Given the description of an element on the screen output the (x, y) to click on. 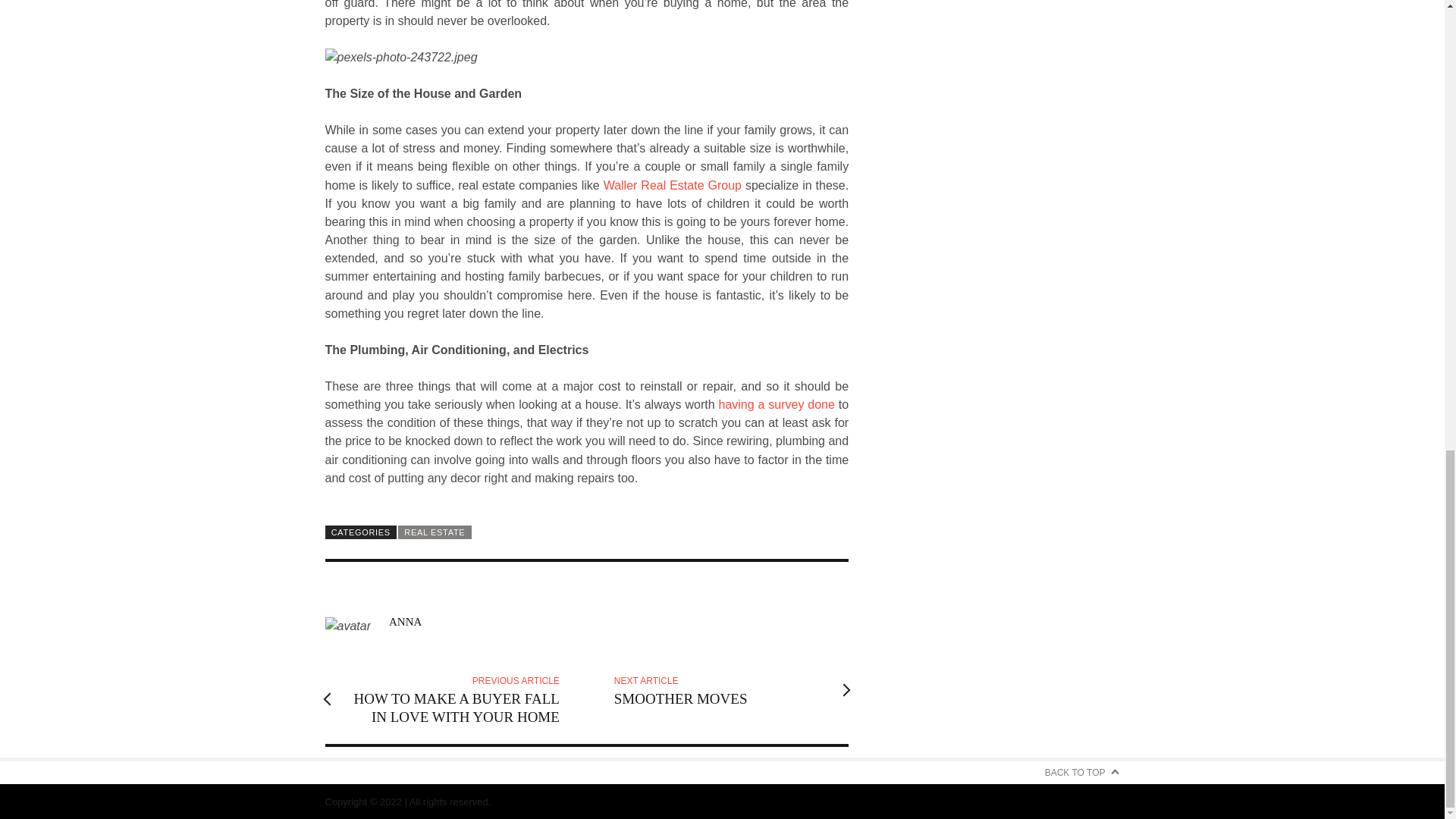
Posts by Anna (405, 621)
ANNA (405, 621)
having a survey done (776, 404)
View all posts in Real Estate (433, 531)
REAL ESTATE (721, 689)
BACK TO TOP (433, 531)
Waller Real Estate Group (1082, 772)
